Given the description of an element on the screen output the (x, y) to click on. 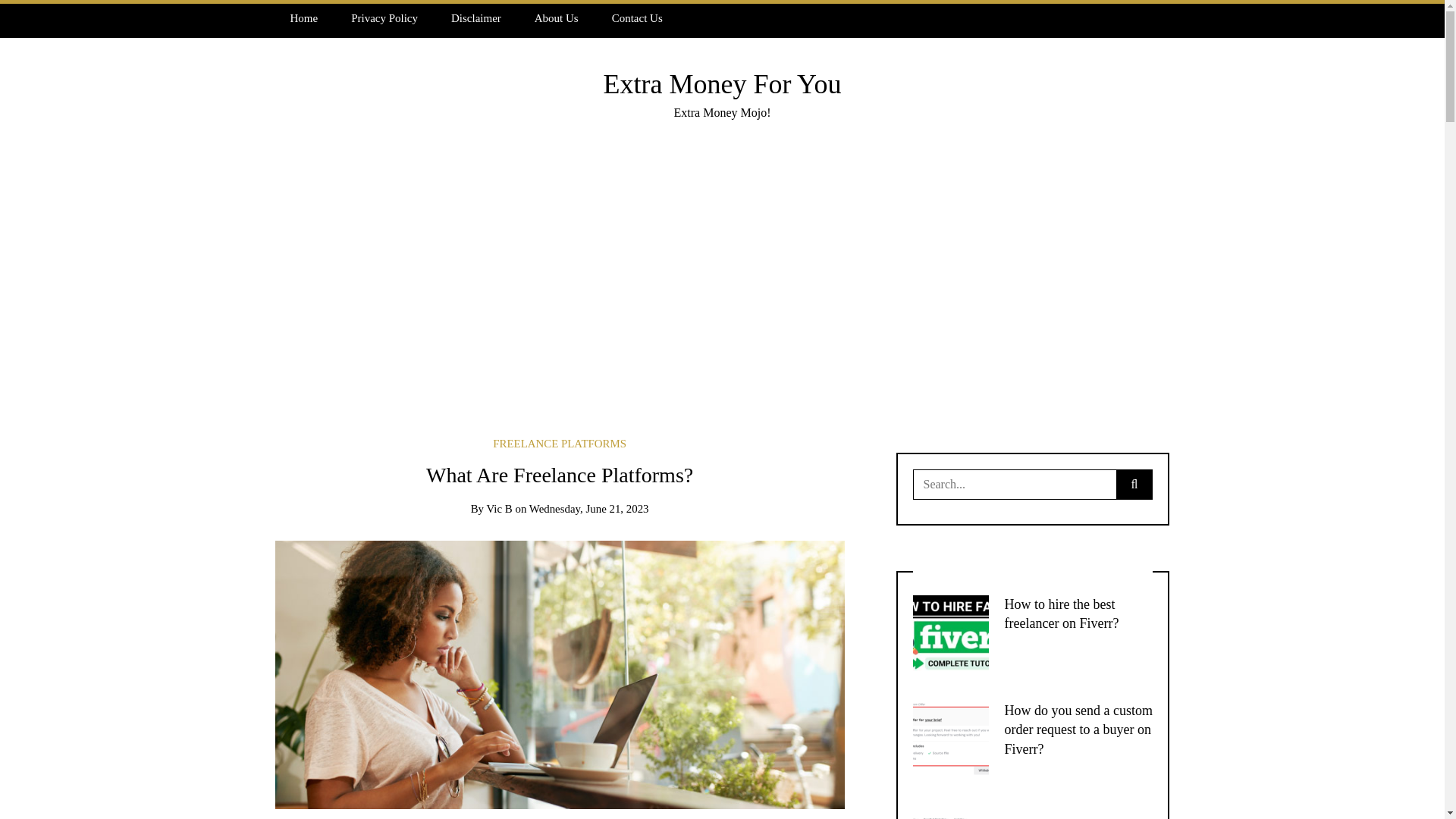
Contact Us (637, 18)
Privacy Policy (384, 18)
Extra Money For You (721, 83)
Permalink to How to Get Withdrawal in Fiverr? (1076, 817)
Permalink to How to hire the best freelancer on Fiverr? (1061, 613)
FREELANCE PLATFORMS (559, 443)
About Us (556, 18)
Wednesday, June 21, 2023 (589, 508)
